Given the description of an element on the screen output the (x, y) to click on. 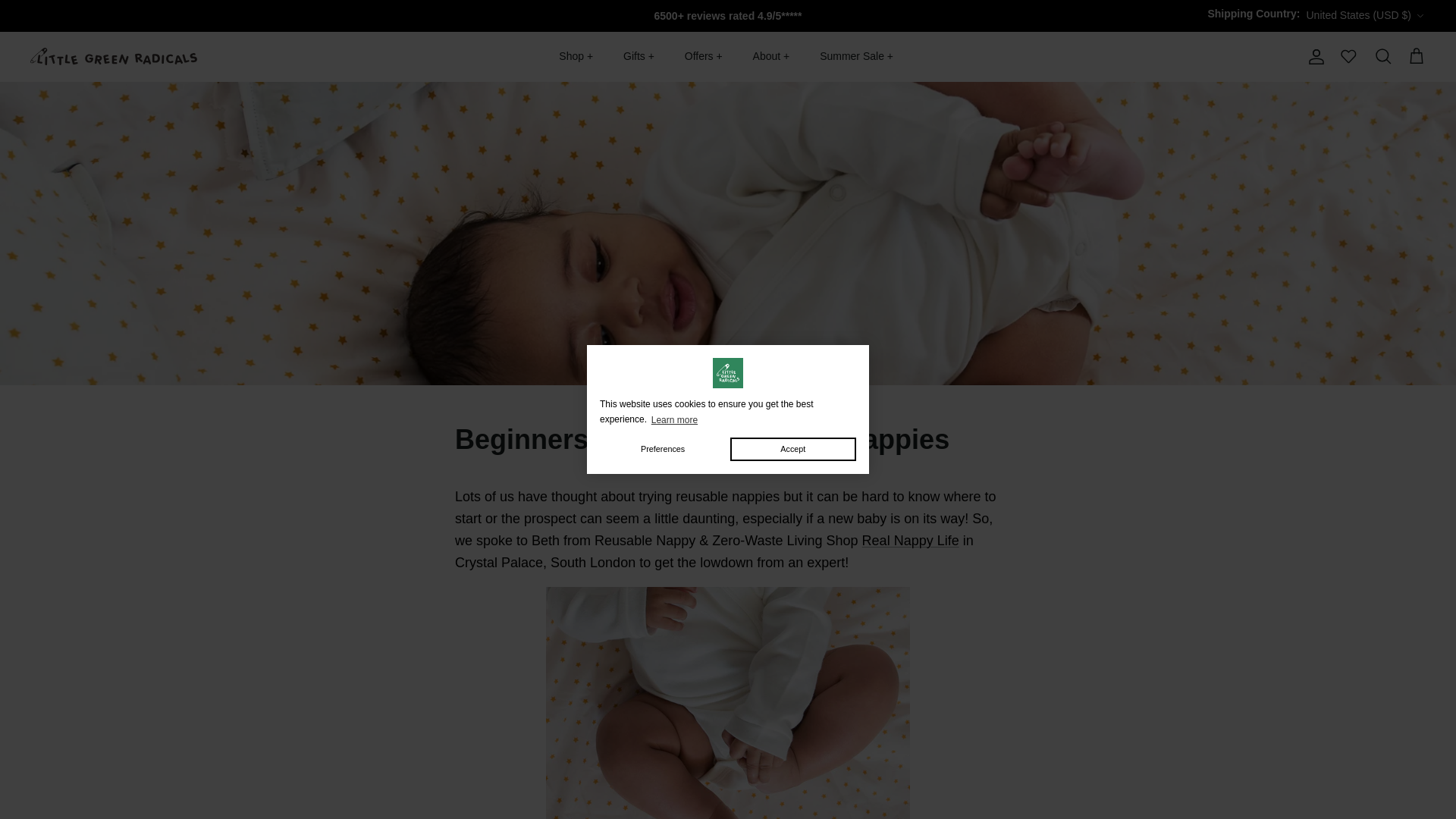
Learn more (673, 419)
Preferences (662, 449)
Little Green Radicals (113, 55)
Accept (793, 449)
Down (1420, 15)
